Given the description of an element on the screen output the (x, y) to click on. 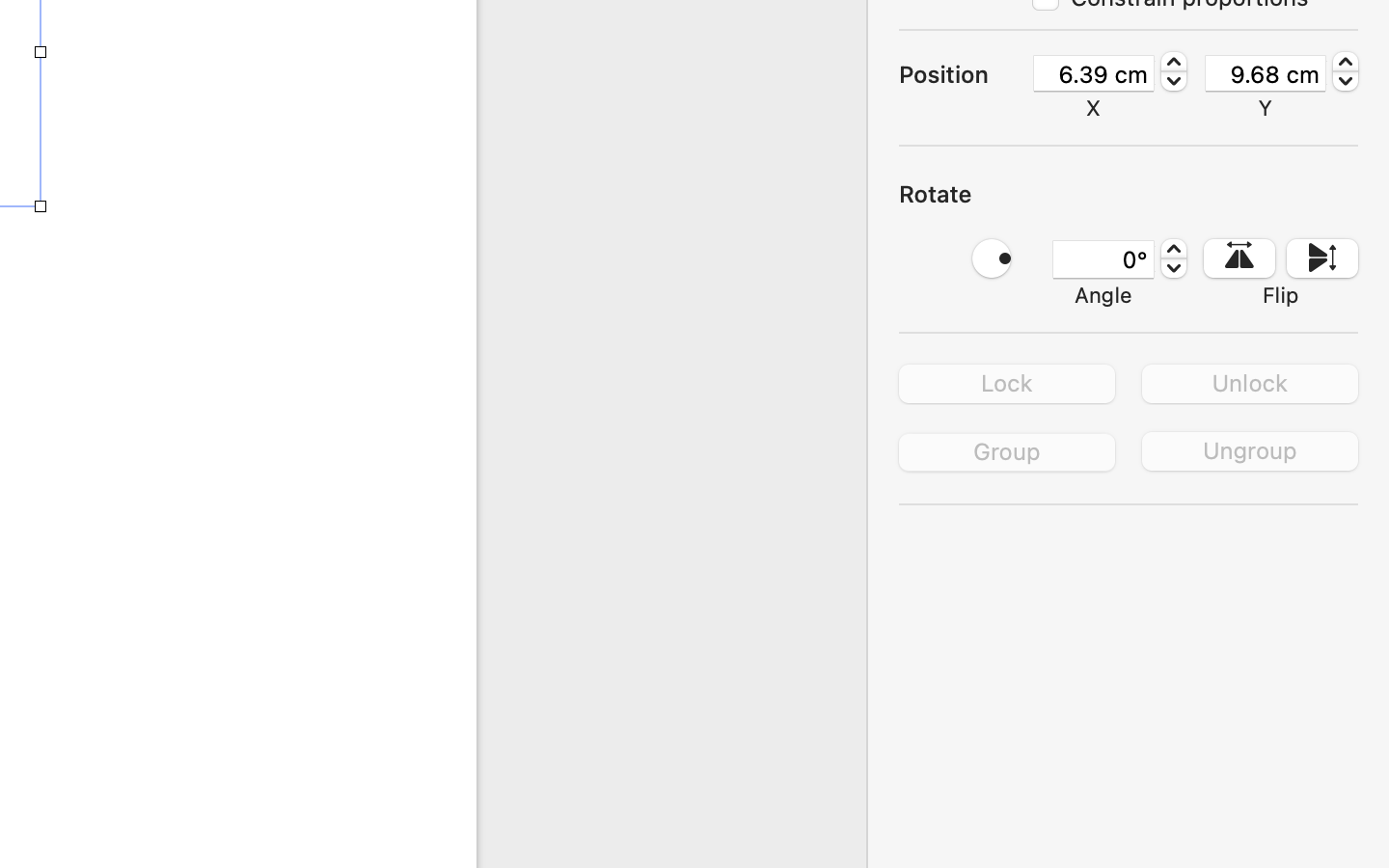
Angle Element type: AXStaticText (1103, 294)
0° Element type: AXTextField (1103, 259)
274.40000000000003 Element type: AXIncrementor (1345, 71)
9.68 cm Element type: AXTextField (1265, 73)
181.0 Element type: AXIncrementor (1173, 71)
